Given the description of an element on the screen output the (x, y) to click on. 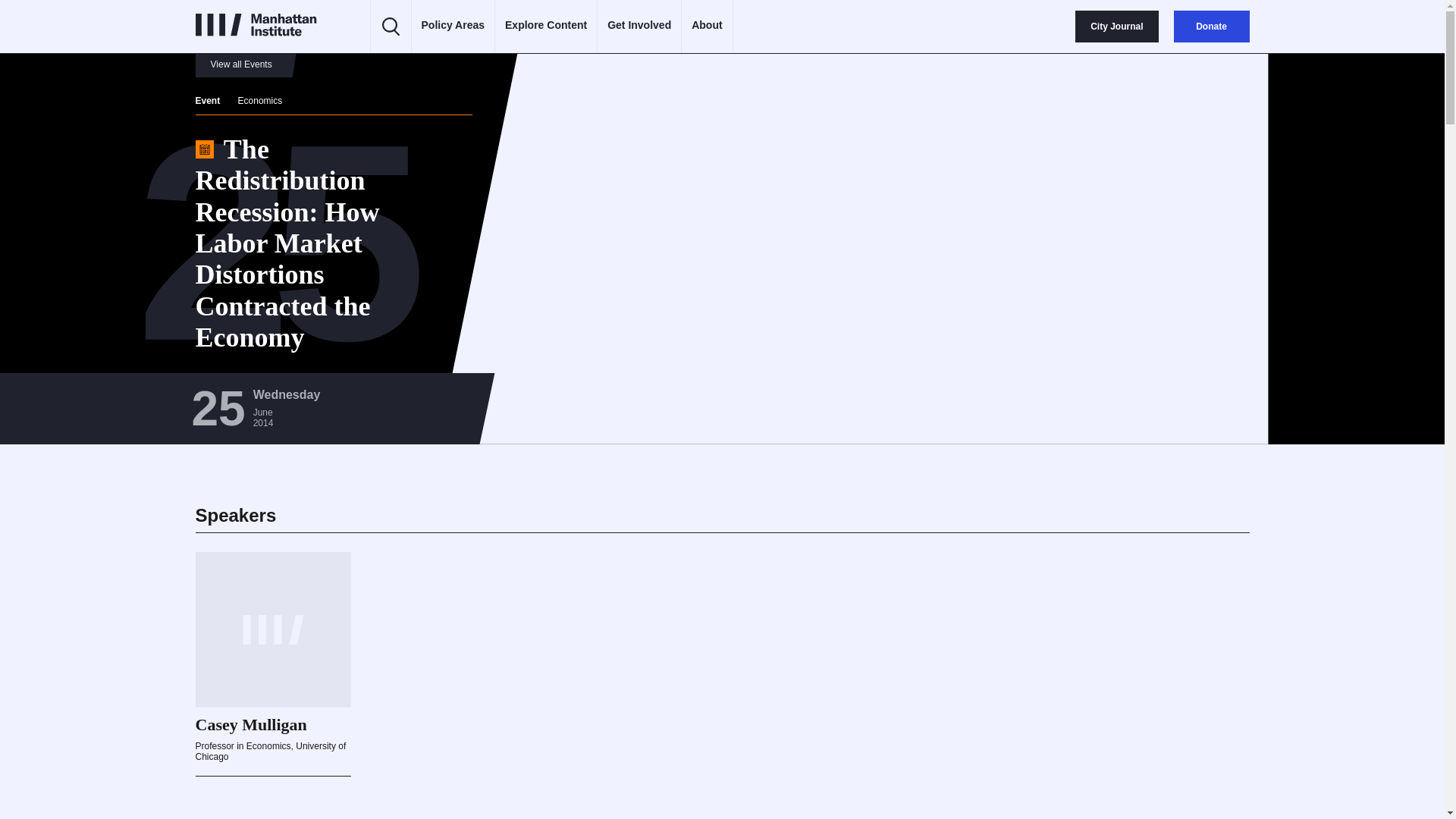
Donate (1211, 26)
Explore Content (545, 26)
Policy Areas (453, 26)
Get Involved (639, 26)
City Journal (1116, 26)
About (706, 26)
